Given the description of an element on the screen output the (x, y) to click on. 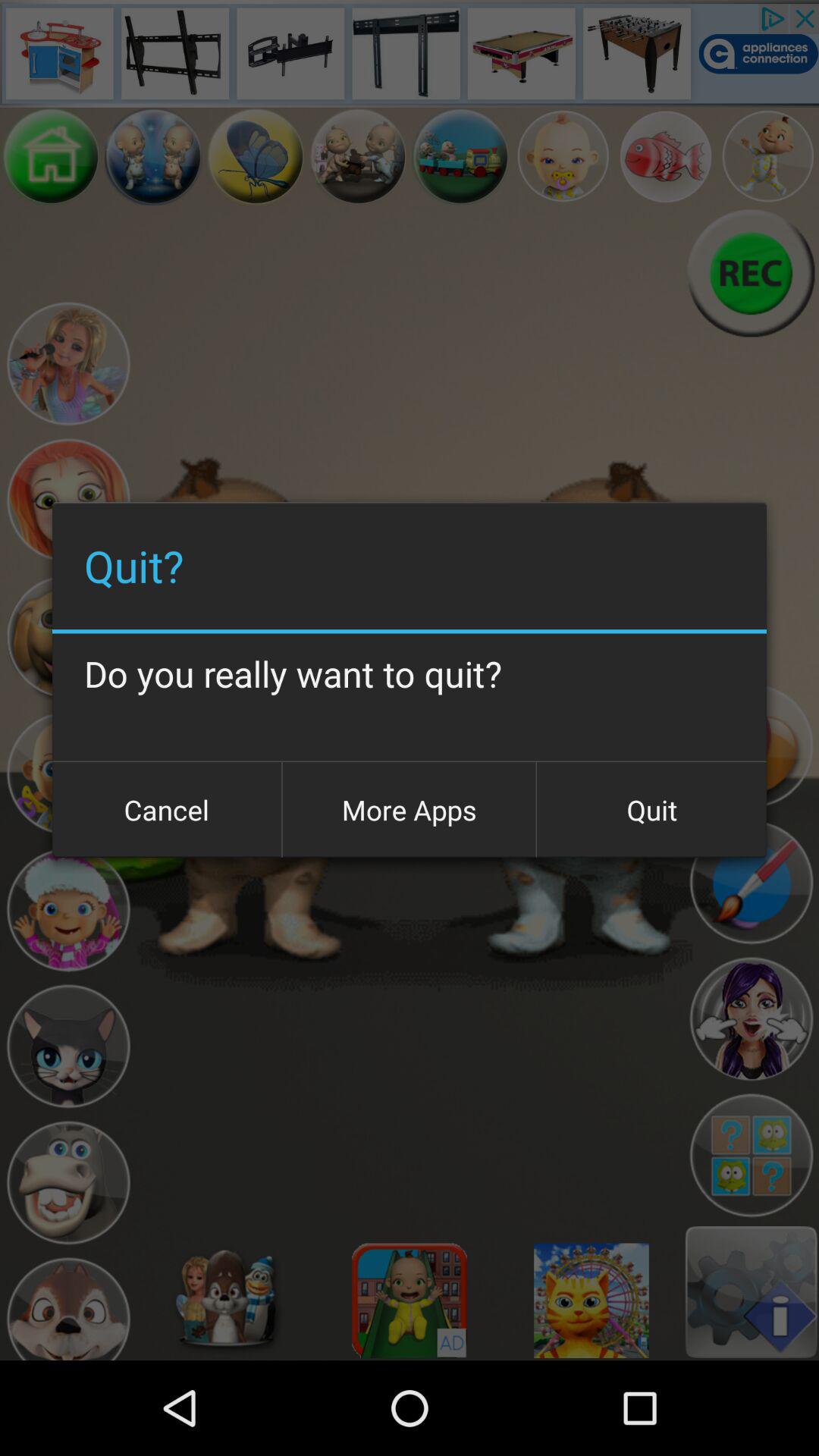
go to game (68, 363)
